Given the description of an element on the screen output the (x, y) to click on. 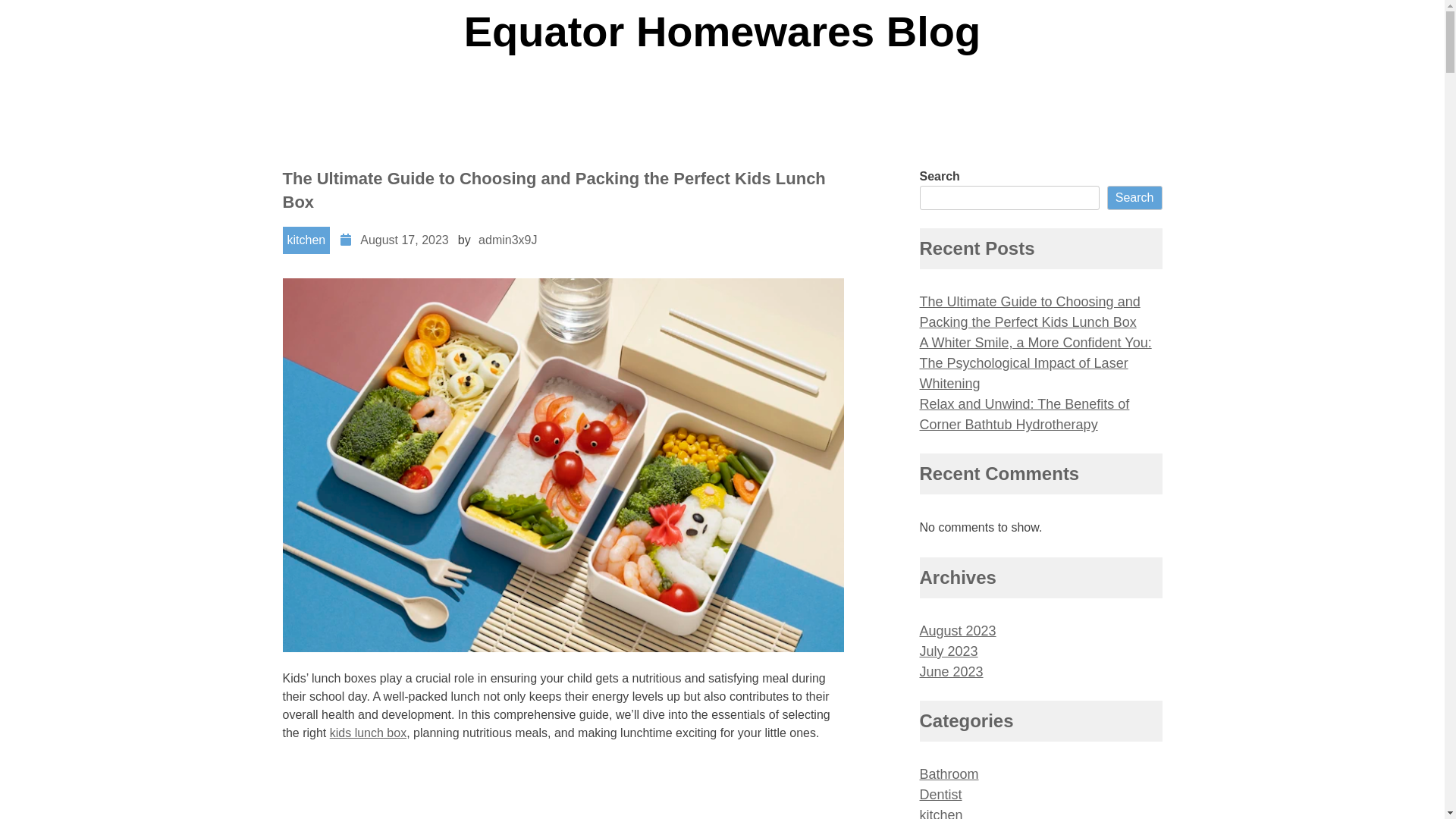
August 17, 2023 Element type: text (404, 239)
kids lunch box Element type: text (367, 732)
July 2023 Element type: text (948, 650)
Search Element type: text (1134, 197)
admin3x9J Element type: text (507, 239)
Dentist Element type: text (940, 794)
June 2023 Element type: text (950, 671)
kitchen Element type: text (305, 239)
Equator Homewares Blog Element type: text (721, 31)
August 2023 Element type: text (957, 630)
Bathroom Element type: text (948, 773)
